Given the description of an element on the screen output the (x, y) to click on. 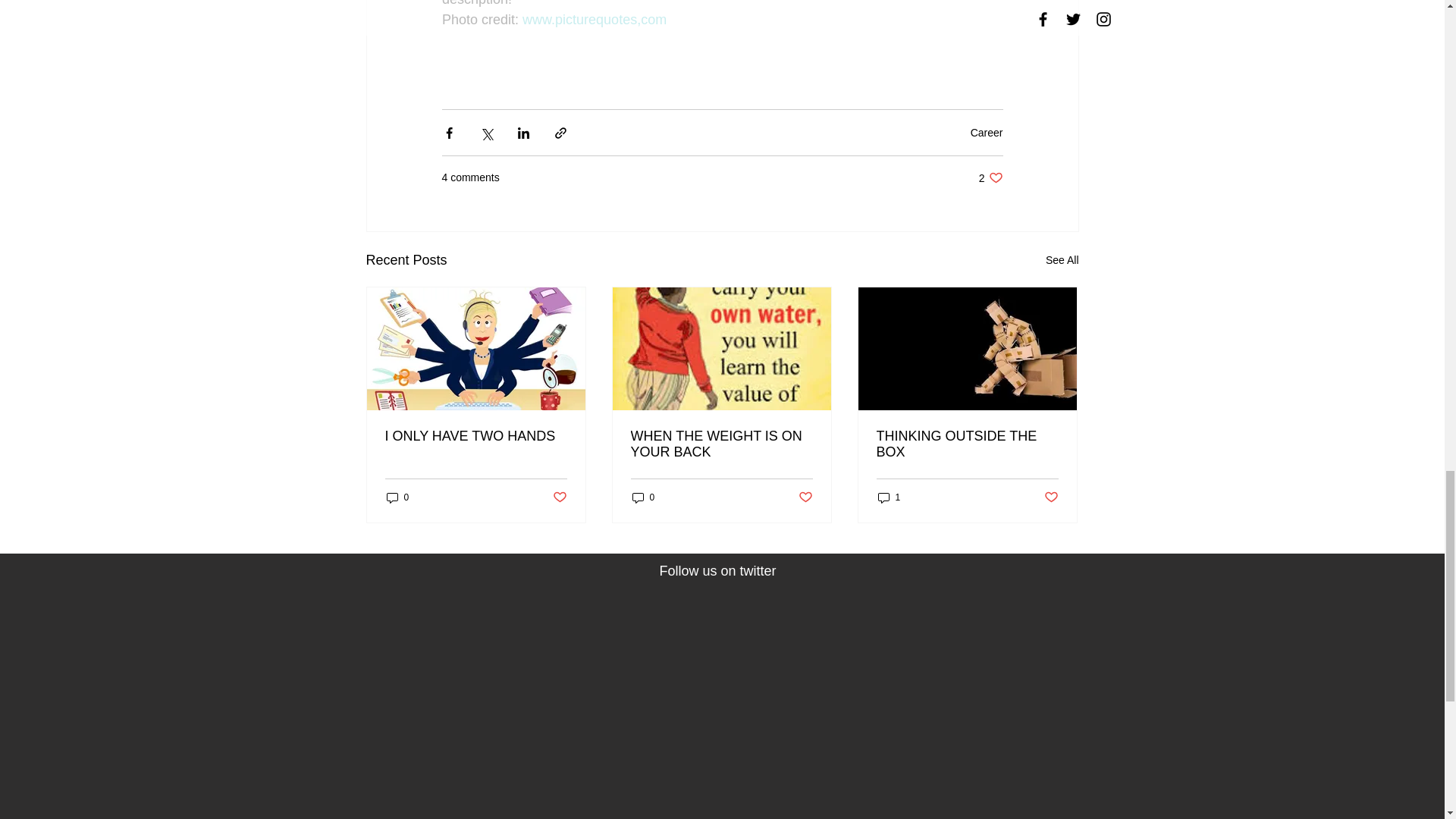
0 (397, 496)
I ONLY HAVE TWO HANDS (990, 177)
0 (476, 436)
Post not marked as liked (643, 496)
See All (558, 497)
Post not marked as liked (1061, 260)
www.picturequotes,com (804, 497)
THINKING OUTSIDE THE BOX (594, 19)
Career (967, 444)
WHEN THE WEIGHT IS ON YOUR BACK (987, 132)
